Given the description of an element on the screen output the (x, y) to click on. 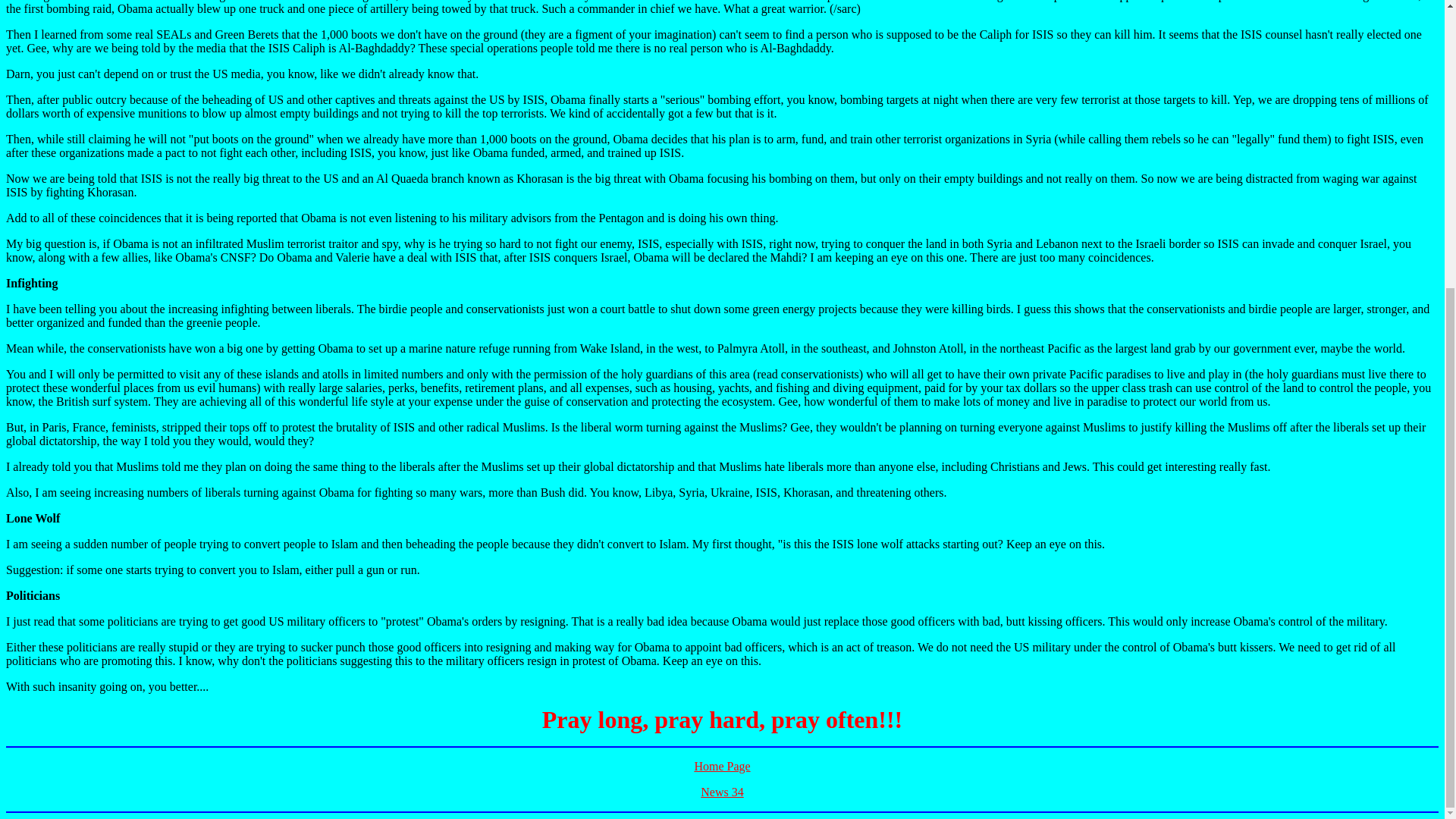
Home Page (721, 766)
News 34 (721, 791)
